Given the description of an element on the screen output the (x, y) to click on. 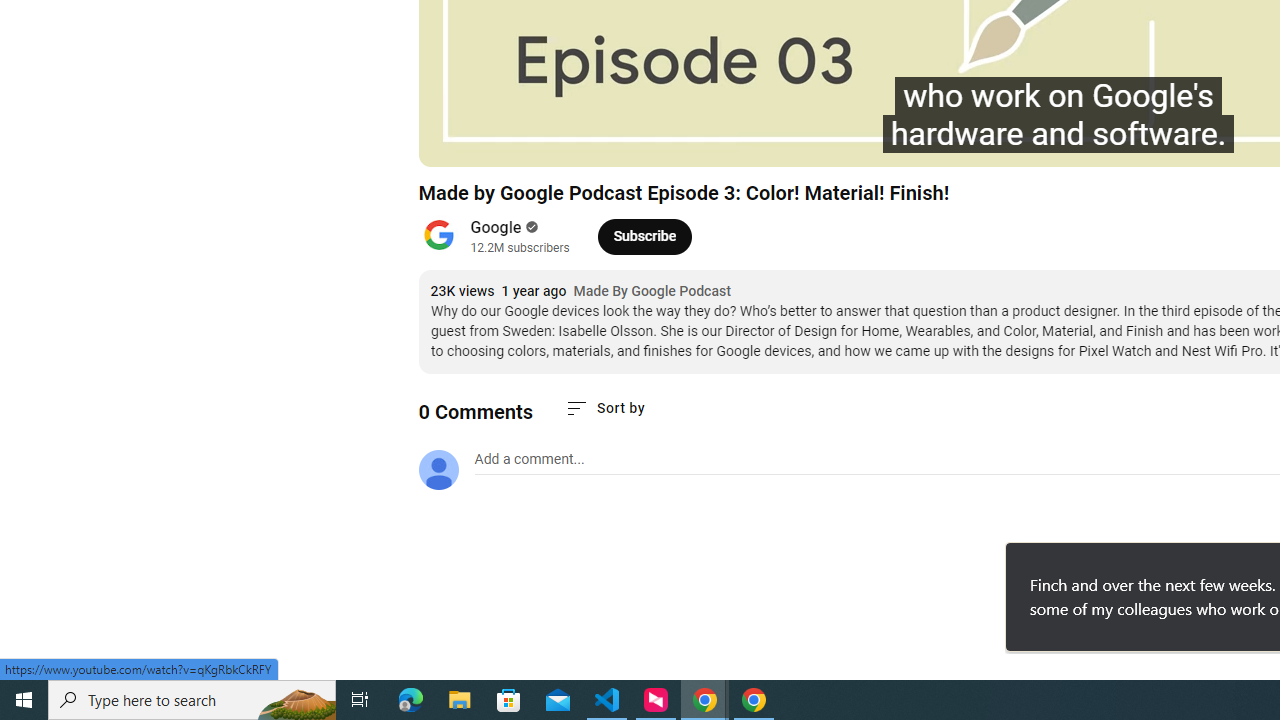
Pause (k) (453, 142)
Sort comments (604, 408)
Default profile photo (438, 470)
Next (SHIFT+n) (500, 142)
Verified (530, 227)
Mute (m) (548, 142)
Subscribe to Google. (644, 236)
AutomationID: simplebox-placeholder (528, 459)
Made By Google Podcast (651, 291)
